Given the description of an element on the screen output the (x, y) to click on. 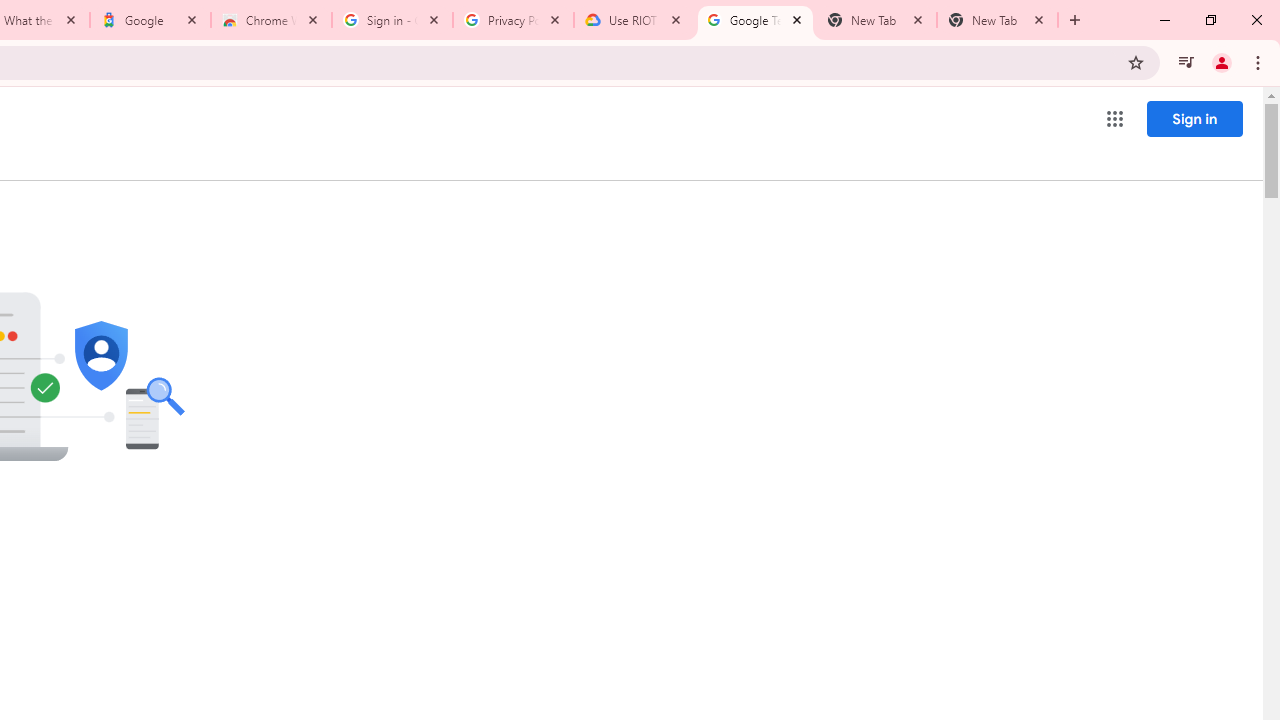
Chrome Web Store - Color themes by Chrome (271, 20)
Google (150, 20)
